Given the description of an element on the screen output the (x, y) to click on. 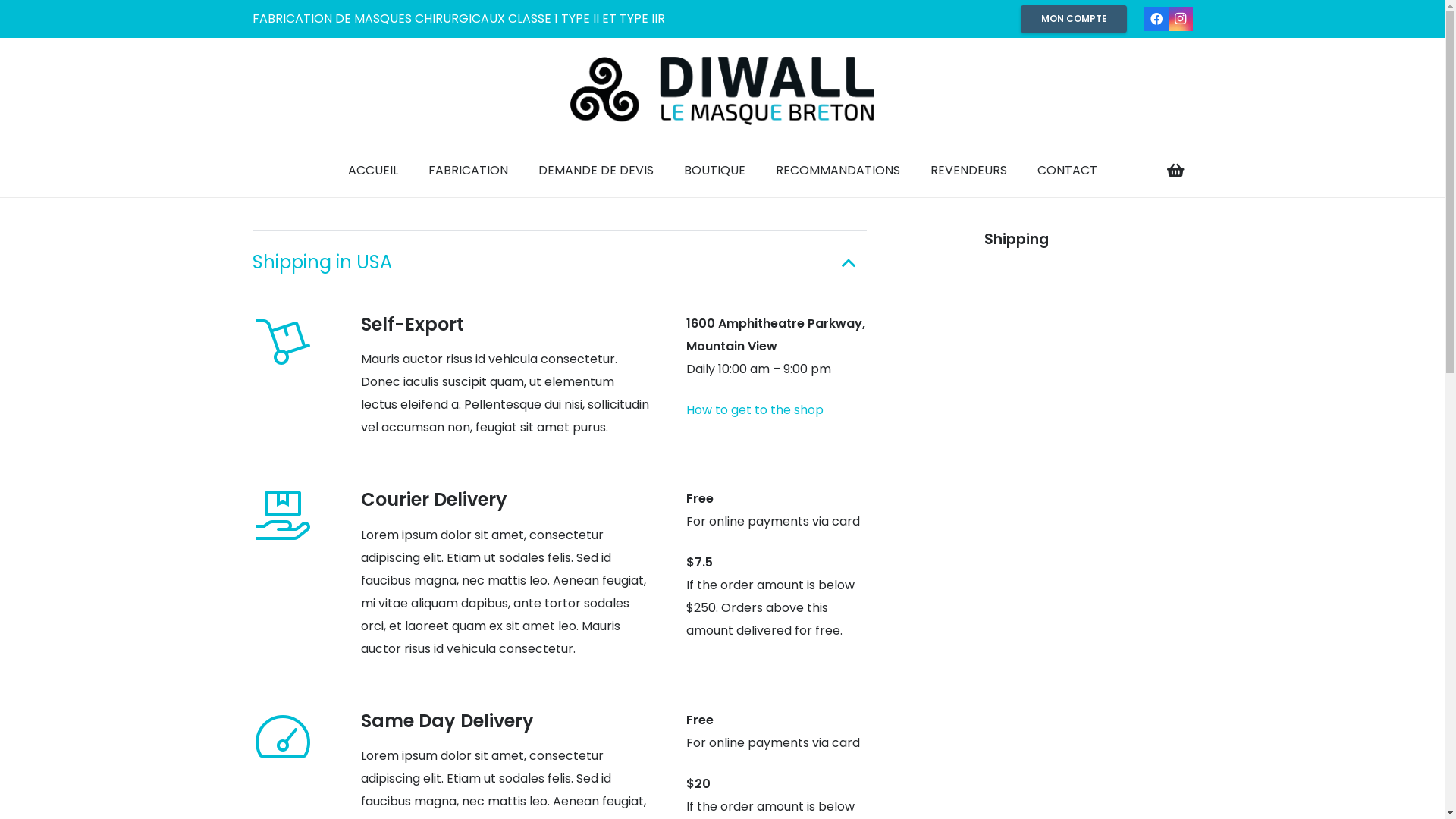
FABRICATION Element type: text (467, 170)
How to get to the shop Element type: text (754, 409)
BOUTIQUE Element type: text (714, 170)
Facebook Element type: hover (1156, 18)
MON COMPTE Element type: text (1073, 18)
DEMANDE DE DEVIS Element type: text (595, 170)
Shipping in USA Element type: text (558, 262)
ACCUEIL Element type: text (372, 170)
CONTACT Element type: text (1067, 170)
Shipping Element type: text (1016, 239)
RECOMMANDATIONS Element type: text (836, 170)
REVENDEURS Element type: text (967, 170)
Instagram Element type: hover (1180, 18)
0 Element type: text (1175, 170)
